Given the description of an element on the screen output the (x, y) to click on. 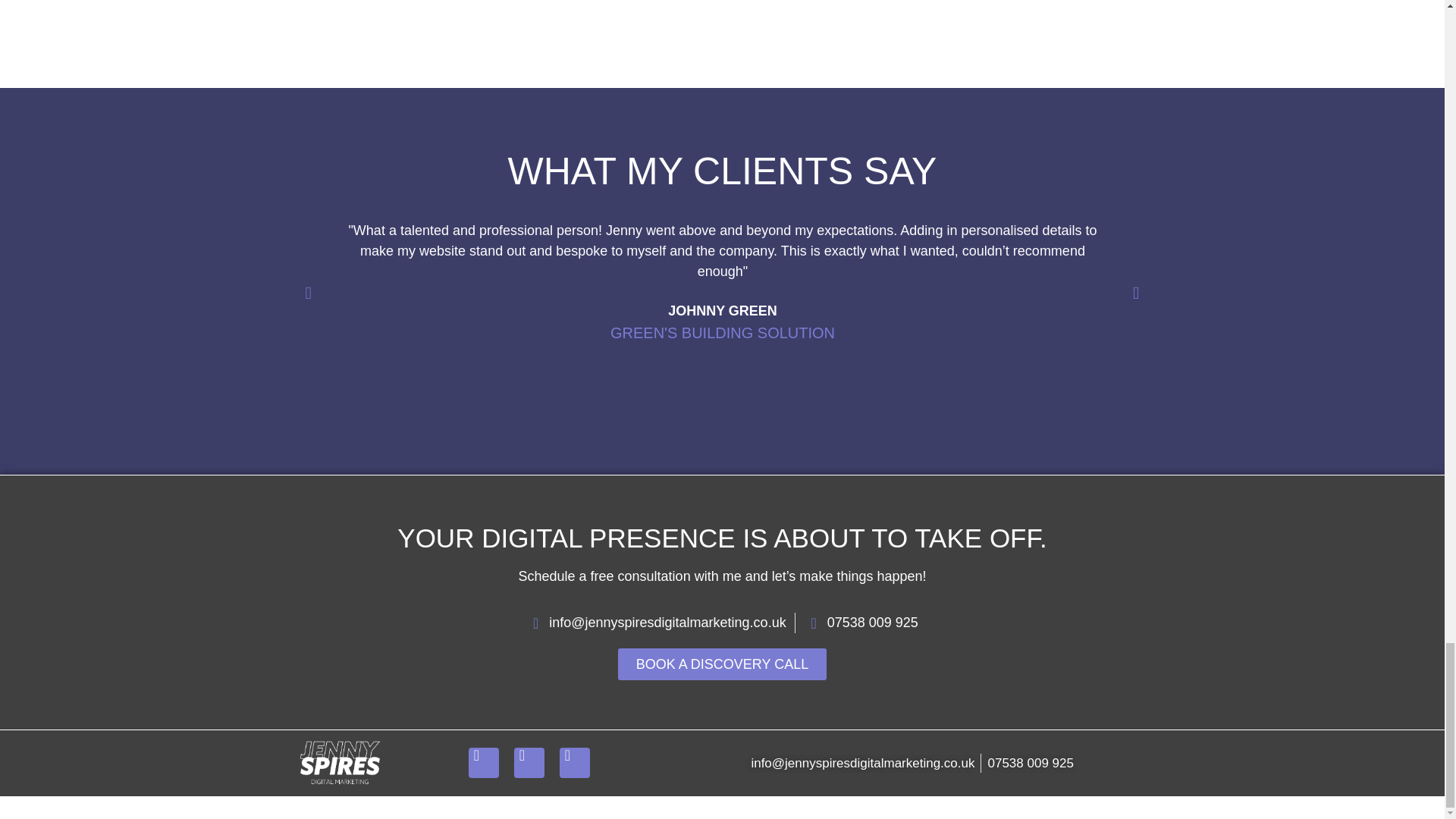
BOOK A DISCOVERY CALL (722, 664)
07538 009 925 (861, 622)
07538 009 925 (1030, 763)
